Given the description of an element on the screen output the (x, y) to click on. 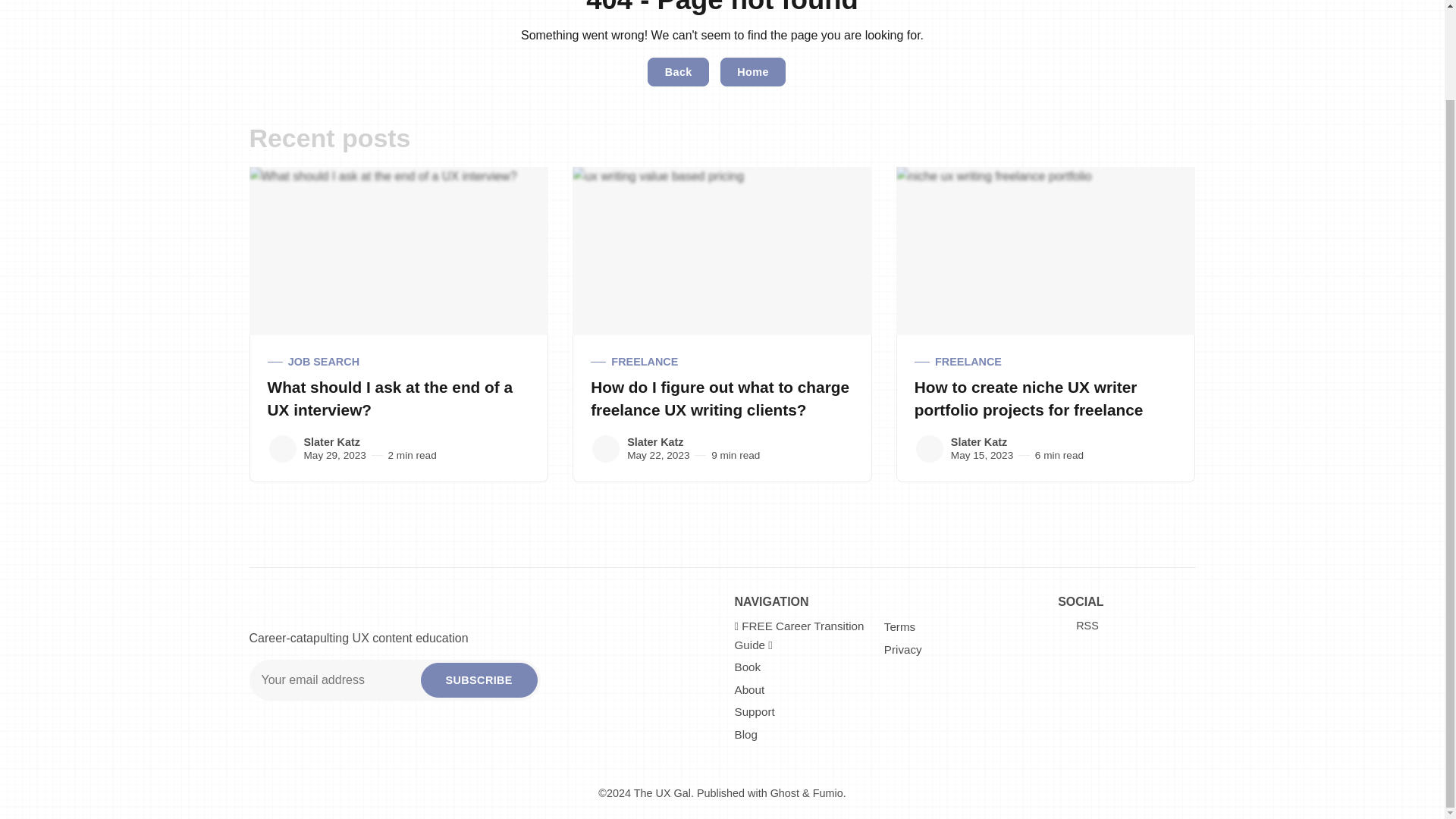
Back (678, 71)
Slater Katz (978, 441)
Slater Katz (929, 449)
What should I ask at the end of a UX interview? (389, 398)
JOB SEARCH (397, 361)
Slater Katz (281, 449)
Slater Katz (654, 441)
FREELANCE (722, 361)
Slater Katz (606, 449)
